Given the description of an element on the screen output the (x, y) to click on. 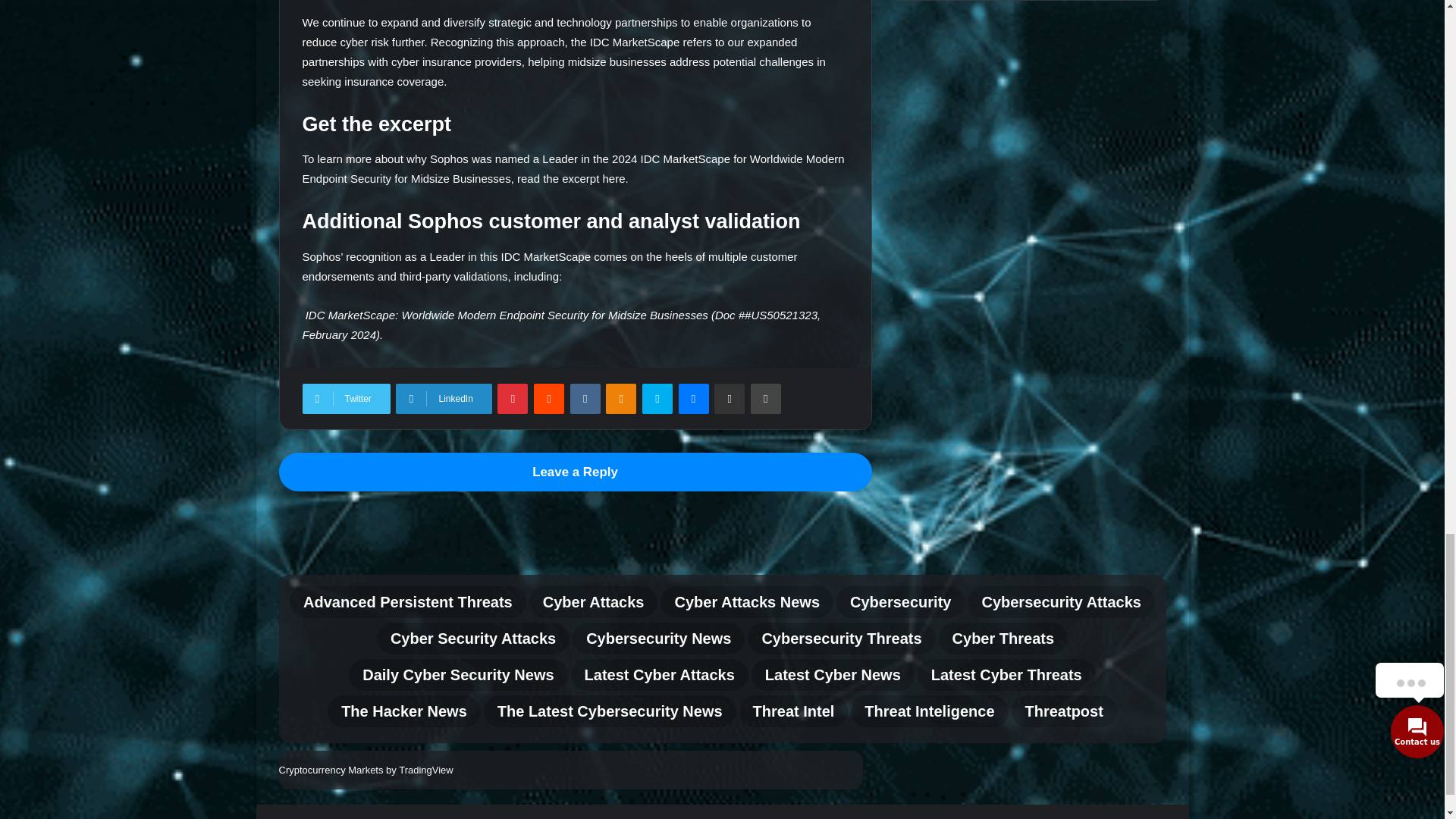
Twitter (345, 399)
Pinterest (512, 399)
Odnoklassniki (620, 399)
LinkedIn (444, 399)
Messenger (693, 399)
VKontakte (584, 399)
Reddit (549, 399)
Share via Email (729, 399)
Skype (657, 399)
